Given the description of an element on the screen output the (x, y) to click on. 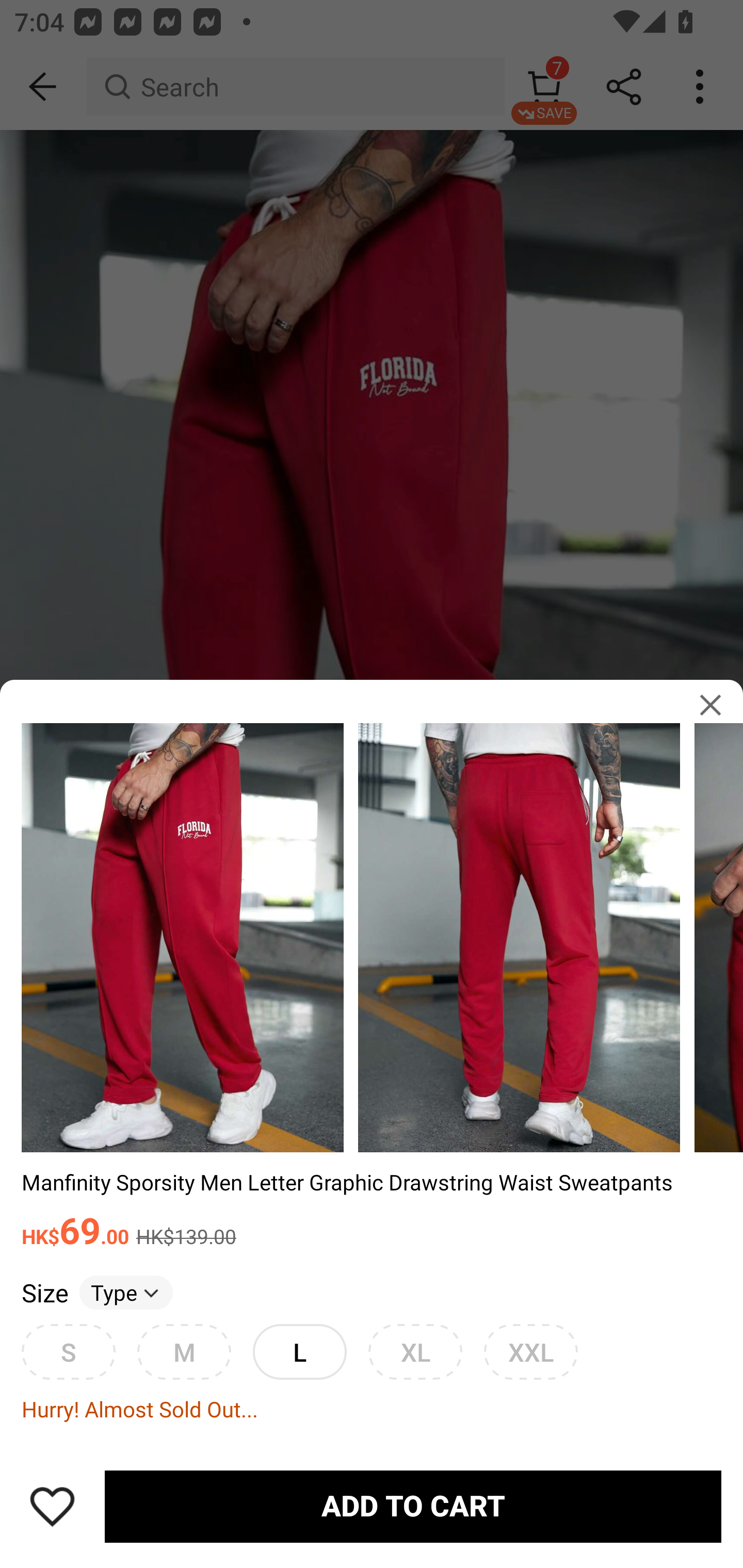
Size (44, 1291)
Type (126, 1291)
S (68, 1351)
M (184, 1351)
L unselected option (299, 1351)
XL (415, 1351)
XXL (530, 1351)
Hurry! Almost Sold Out... (371, 1408)
ADD TO CART (412, 1506)
Save (52, 1505)
